Given the description of an element on the screen output the (x, y) to click on. 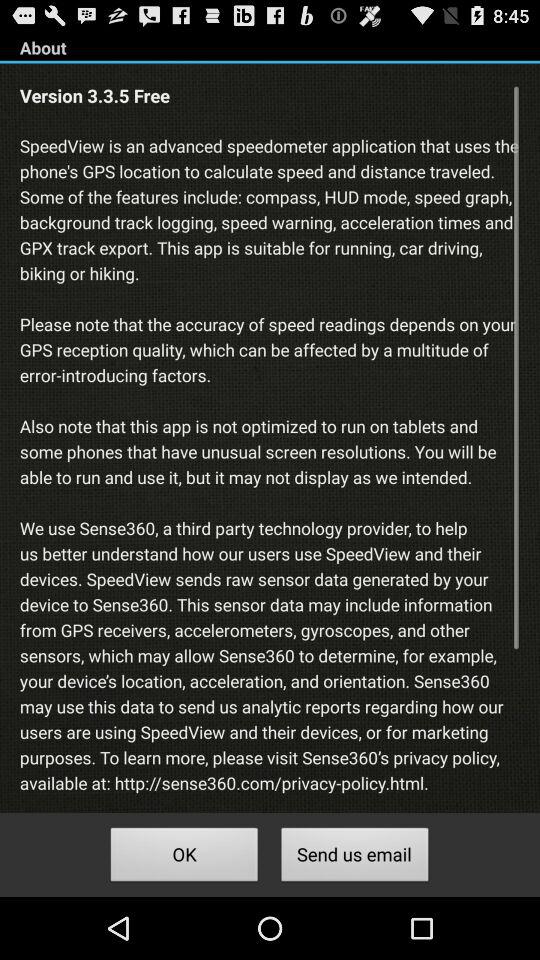
launch icon below speedview is an (184, 857)
